Given the description of an element on the screen output the (x, y) to click on. 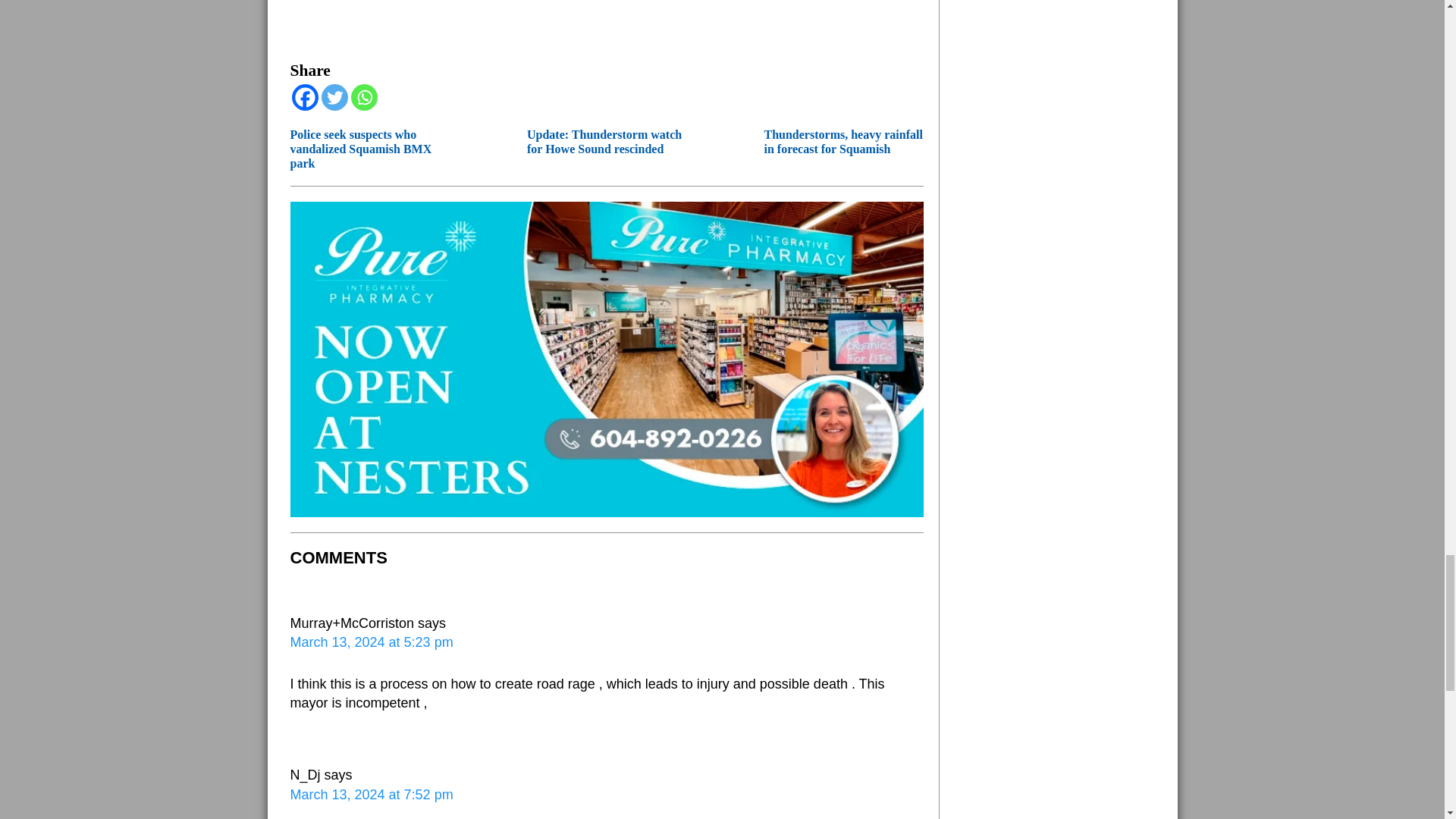
March 13, 2024 at 5:23 pm (370, 642)
Whatsapp (363, 97)
Twitter (334, 97)
Facebook (304, 97)
